Given the description of an element on the screen output the (x, y) to click on. 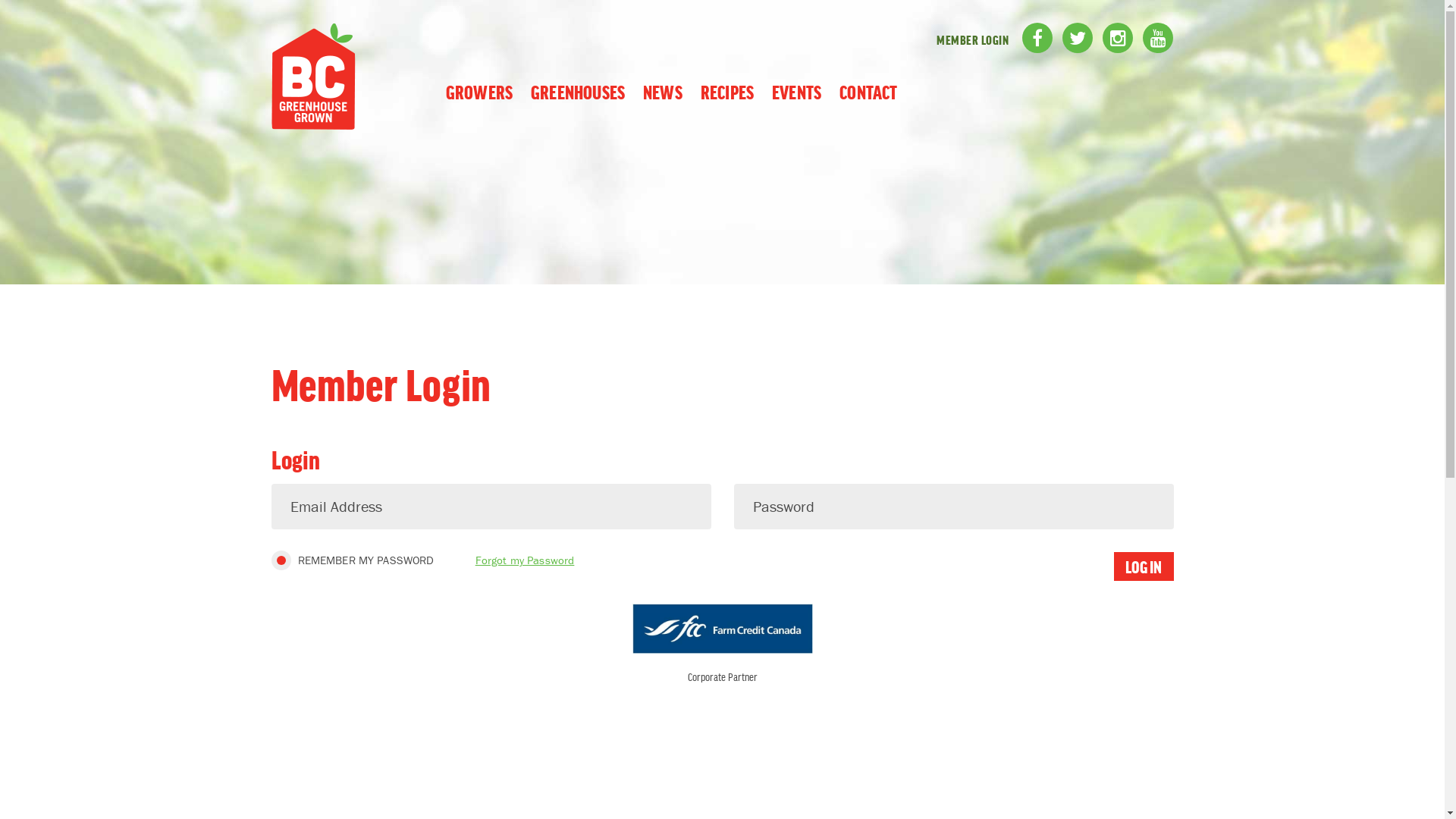
EVENTS Element type: text (796, 91)
MEMBER LOGIN Element type: text (972, 39)
RECIPES Element type: text (726, 91)
CONTACT Element type: text (868, 91)
GROWERS Element type: text (478, 91)
Log In Element type: text (1143, 566)
GREENHOUSES Element type: text (577, 91)
NEWS Element type: text (662, 91)
BC Greenhouse Grown Element type: hover (313, 125)
Forgot my Password Element type: text (525, 559)
